Given the description of an element on the screen output the (x, y) to click on. 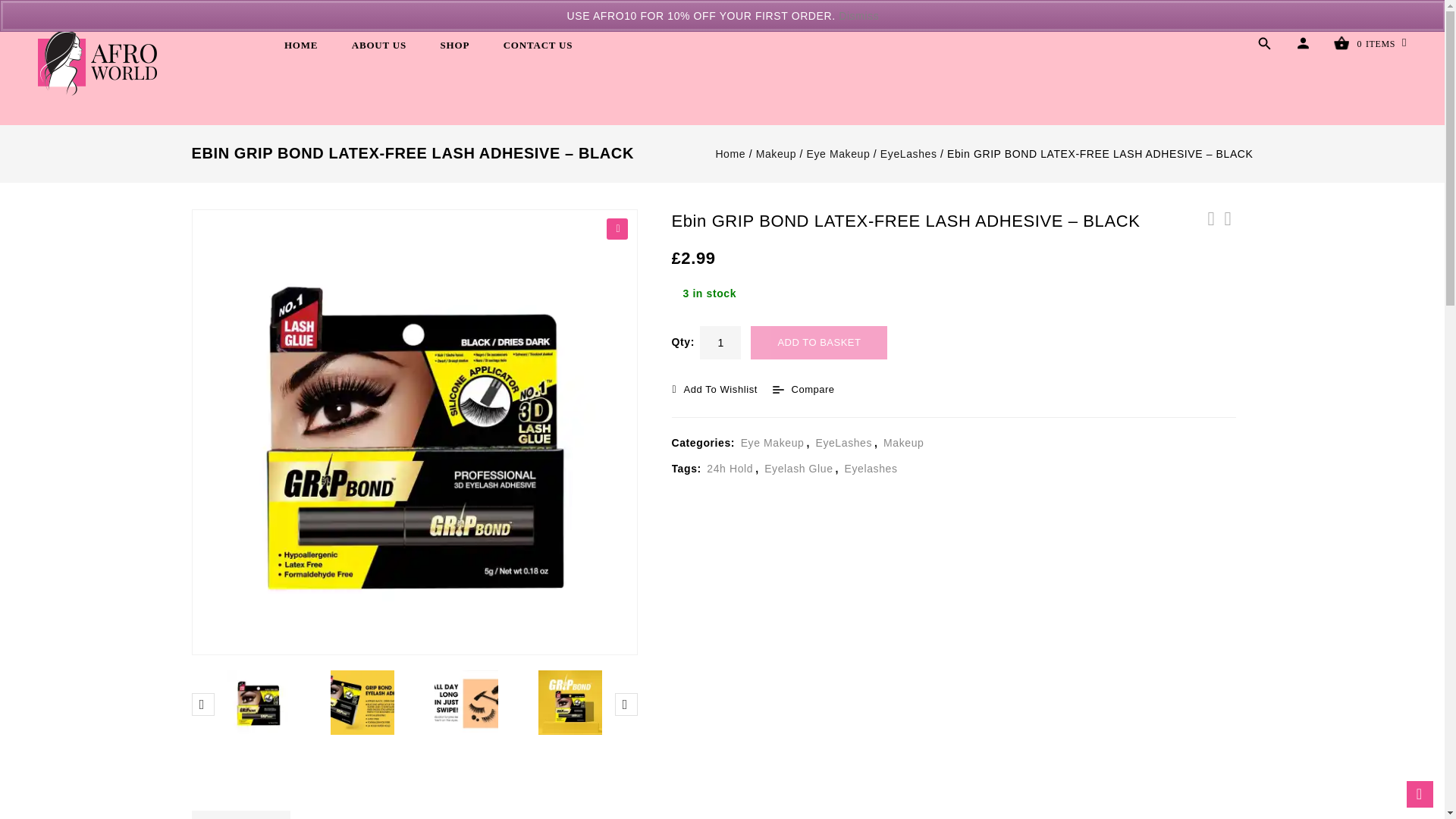
HOME (300, 45)
View your shopping cart (1366, 46)
1 (720, 342)
Afro World (97, 62)
SHOP (455, 45)
ABOUT US (379, 45)
Qty (720, 342)
